Given the description of an element on the screen output the (x, y) to click on. 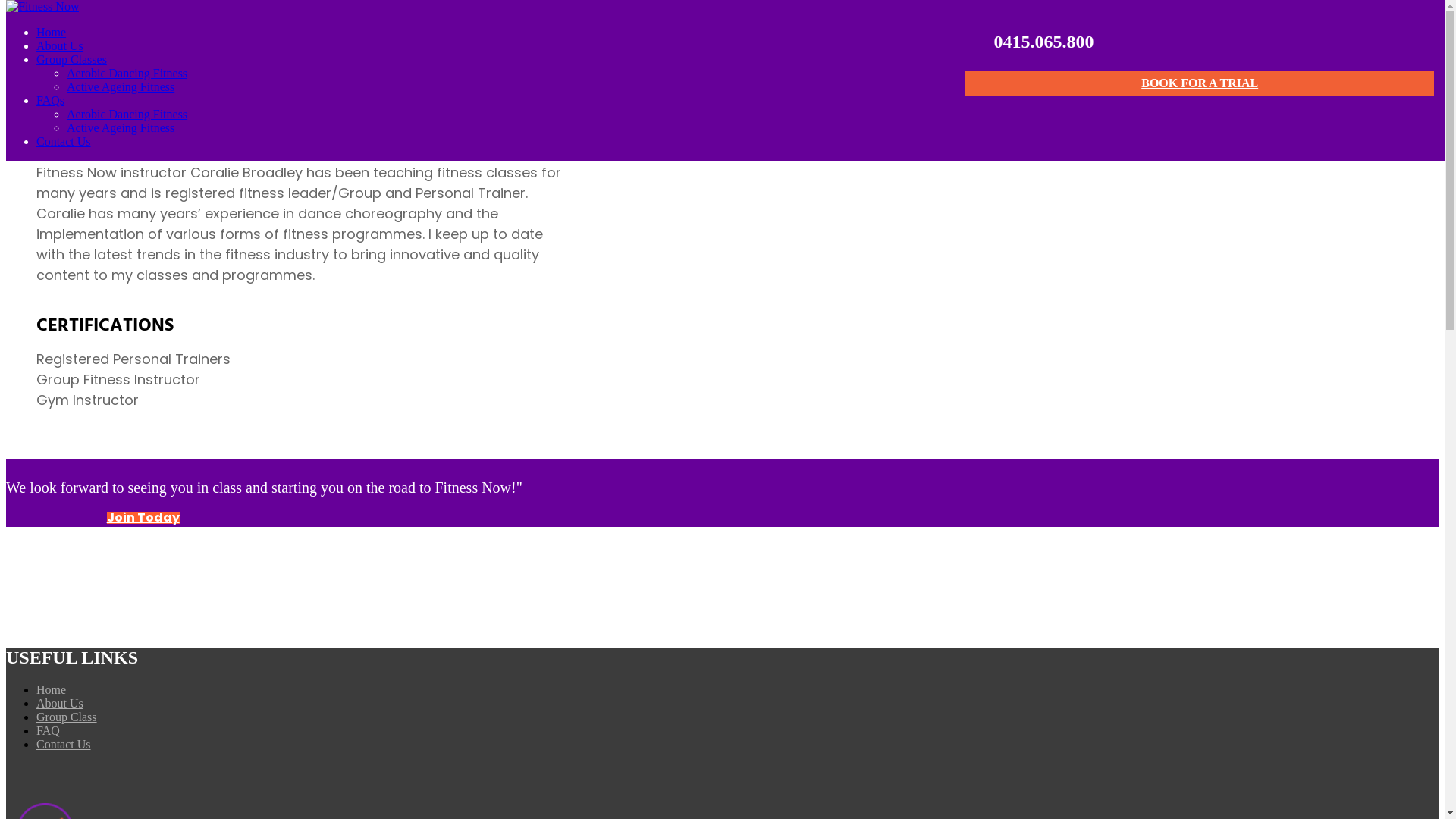
Menu Element type: text (24, 13)
FAQs Element type: text (50, 100)
Home Element type: text (50, 72)
Active Ageing Fitness Element type: text (120, 127)
FAQ Element type: text (47, 730)
Contact Us Element type: text (63, 743)
Group Class Element type: text (66, 716)
About Us Element type: text (59, 702)
Aerobic Dancing Fitness Element type: text (126, 72)
Active Ageing Fitness Element type: text (120, 86)
Home Element type: text (50, 31)
BOOK FOR A TRIAL Element type: text (1199, 83)
Aerobic Dancing Fitness Element type: text (126, 113)
Group Classes Element type: text (71, 59)
About Us Element type: text (59, 45)
Join Today Element type: text (142, 517)
Contact Us Element type: text (63, 140)
Home Element type: text (50, 689)
